Given the description of an element on the screen output the (x, y) to click on. 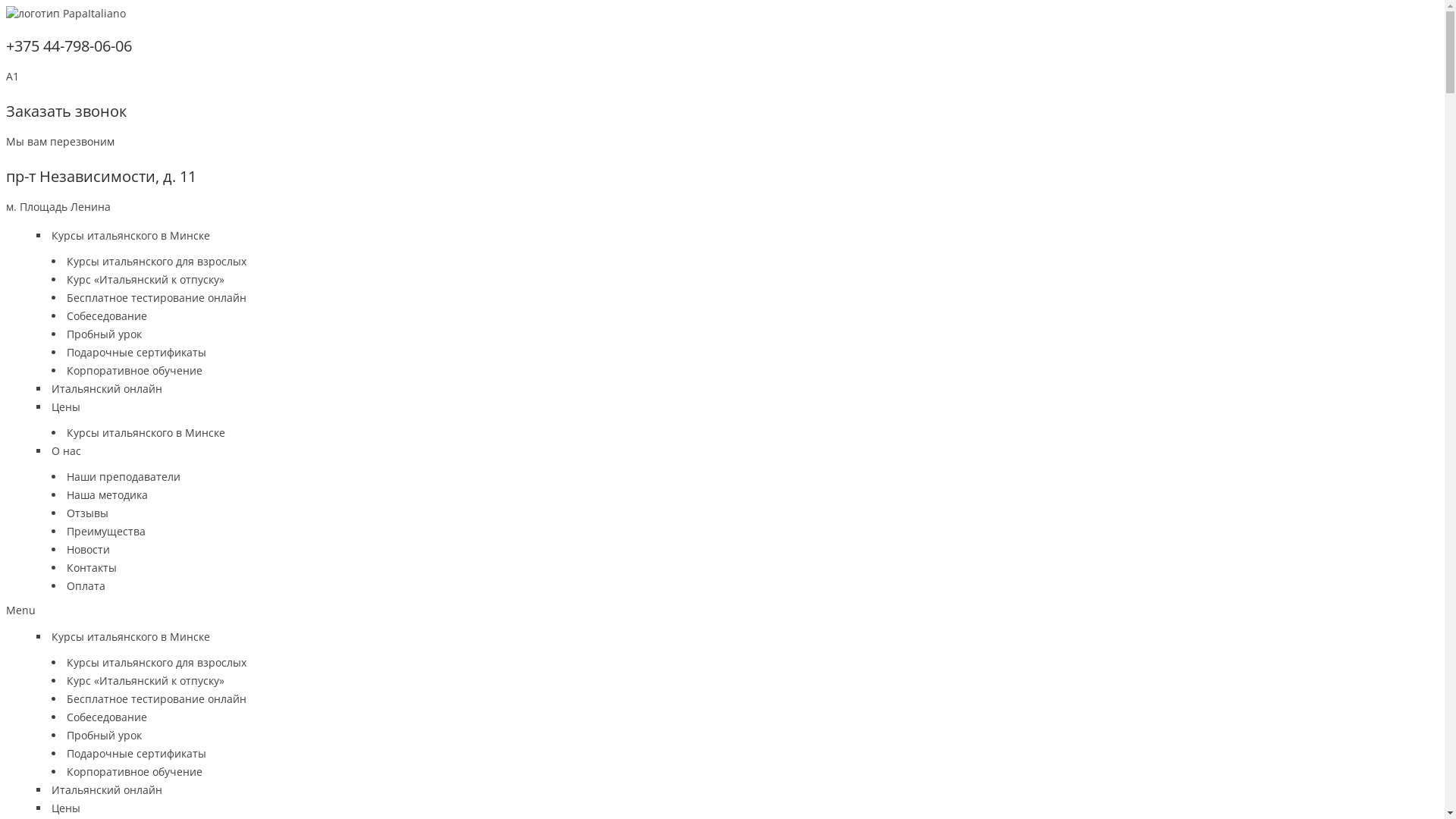
+375 44-798-06-06 Element type: text (68, 45)
